Given the description of an element on the screen output the (x, y) to click on. 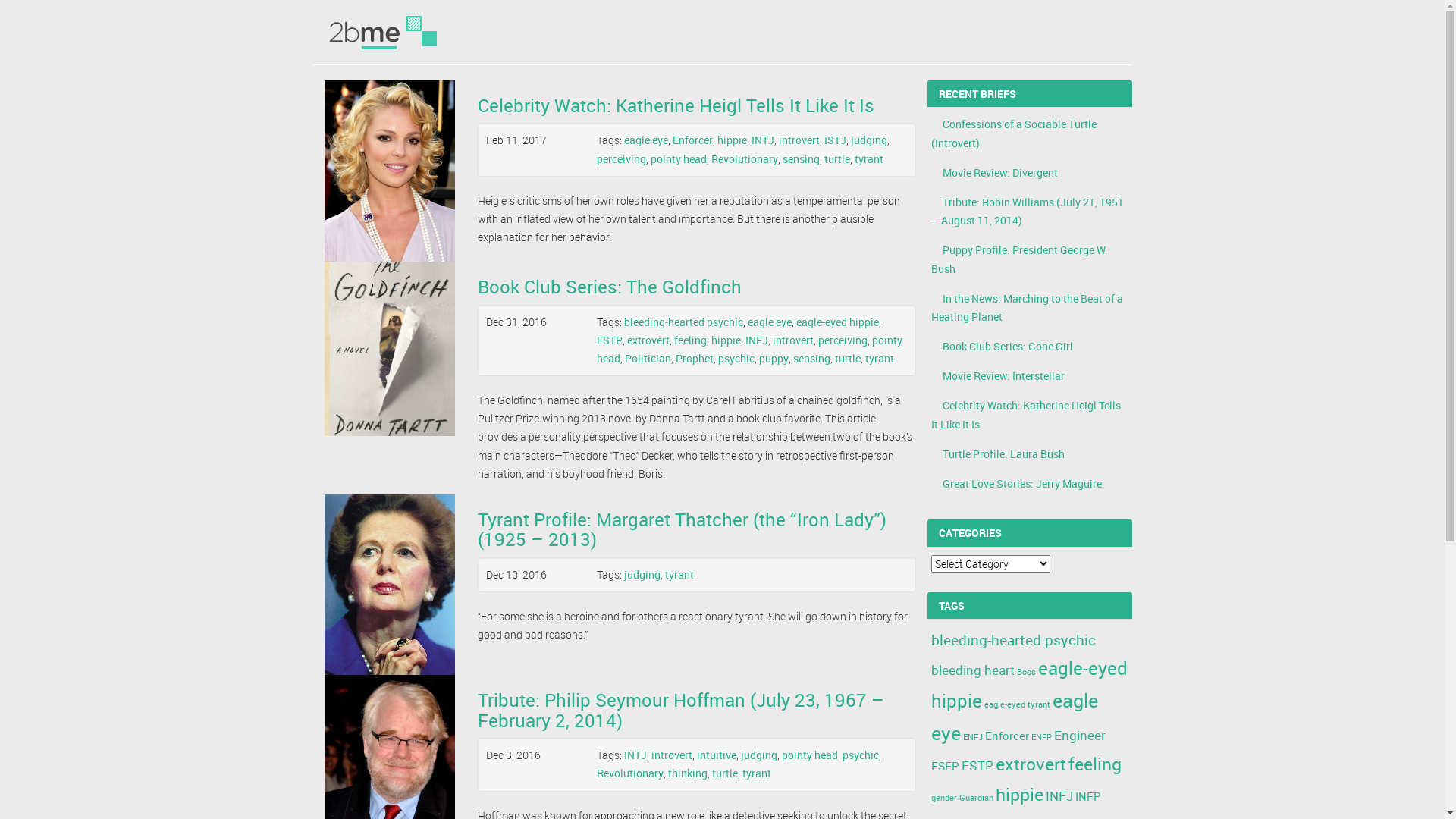
INTJ Element type: text (635, 754)
perceiving Element type: text (621, 158)
tyrant Element type: text (868, 158)
INFJ Element type: text (1058, 795)
judging Element type: text (642, 574)
Revolutionary Element type: text (629, 772)
bleeding-hearted psychic Element type: text (1013, 639)
bleeding heart Element type: text (972, 669)
feeling Element type: text (1093, 763)
pointy head Element type: text (809, 754)
eagle eye Element type: text (769, 320)
bleeding-hearted psychic Element type: text (683, 320)
ENFP Element type: text (1041, 736)
In the News: Marching to the Beat of a Heating Planet Element type: text (1027, 307)
ISTJ Element type: text (835, 139)
Book Club Series: The Goldfinch Element type: text (609, 286)
eagle eye Element type: text (646, 139)
introvert Element type: text (671, 754)
sensing Element type: text (800, 158)
INTJ Element type: text (762, 139)
ESTP Element type: text (609, 339)
eagle-eyed hippie Element type: text (1029, 683)
tyrant Element type: text (879, 358)
Boss Element type: text (1025, 671)
Celebrity Watch: Katherine Heigl Tells It Like It Is Element type: text (675, 105)
Personality Today Element type: text (383, 32)
eagle-eyed hippie Element type: text (837, 320)
feeling Element type: text (690, 339)
hippie Element type: text (731, 139)
judging Element type: text (868, 139)
Revolutionary Element type: text (744, 158)
Book Club Series: Gone Girl Element type: text (1006, 345)
Movie Review: Divergent Element type: text (999, 172)
INFJ Element type: text (756, 339)
gender Element type: text (944, 797)
intuitive Element type: text (716, 754)
hippie Element type: text (725, 339)
Guardian Element type: text (975, 797)
extrovert Element type: text (1029, 763)
introvert Element type: text (798, 139)
tyrant Element type: text (679, 574)
turtle Element type: text (847, 358)
thinking Element type: text (687, 772)
Enforcer Element type: text (692, 139)
INFP Element type: text (1088, 796)
Movie Review: Interstellar Element type: text (1002, 375)
introvert Element type: text (792, 339)
sensing Element type: text (811, 358)
Enforcer Element type: text (1006, 735)
turtle Element type: text (724, 772)
tyrant Element type: text (756, 772)
Celebrity Watch: Katherine Heigl Tells It Like It Is Element type: text (1025, 414)
eagle eye Element type: text (1014, 716)
Turtle Profile: Laura Bush Element type: text (1002, 453)
eagle-eyed tyrant Element type: text (1017, 704)
pointy head Element type: text (749, 348)
turtle Element type: text (837, 158)
judging Element type: text (758, 754)
ESTP Element type: text (977, 765)
ENFJ Element type: text (972, 736)
Prophet Element type: text (694, 358)
ESFP Element type: text (945, 766)
extrovert Element type: text (648, 339)
Engineer Element type: text (1079, 734)
Puppy Profile: President George W. Bush Element type: text (1019, 258)
psychic Element type: text (860, 754)
Politician Element type: text (647, 358)
perceiving Element type: text (842, 339)
psychic Element type: text (736, 358)
Confessions of a Sociable Turtle (Introvert) Element type: text (1013, 132)
pointy head Element type: text (678, 158)
Great Love Stories: Jerry Maguire Element type: text (1021, 483)
puppy Element type: text (773, 358)
hippie Element type: text (1018, 794)
